Given the description of an element on the screen output the (x, y) to click on. 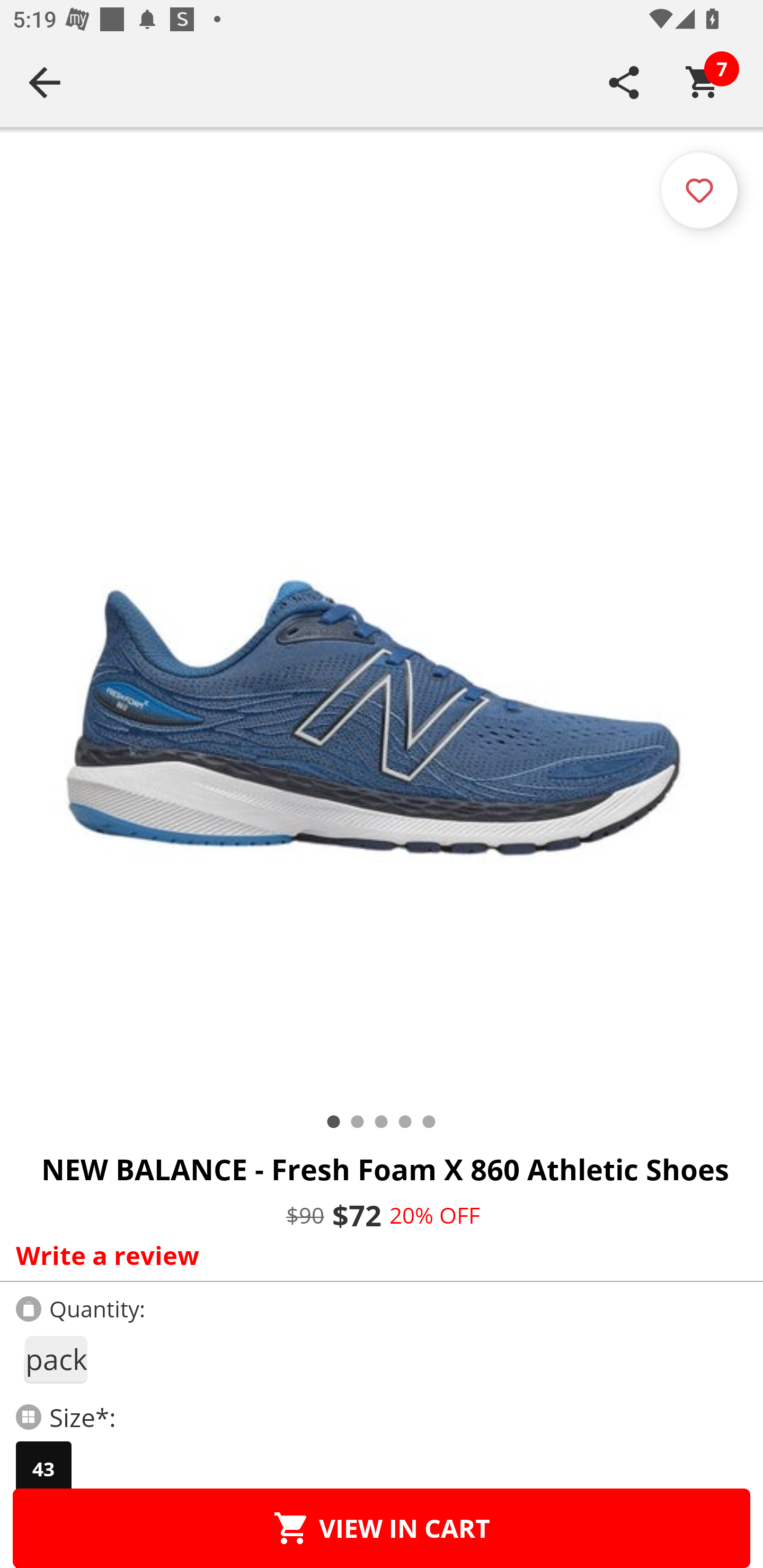
Navigate up (44, 82)
SHARE (623, 82)
Cart (703, 81)
Write a review (377, 1255)
1backpack (55, 1358)
43 (43, 1468)
VIEW IN CART (381, 1528)
